Given the description of an element on the screen output the (x, y) to click on. 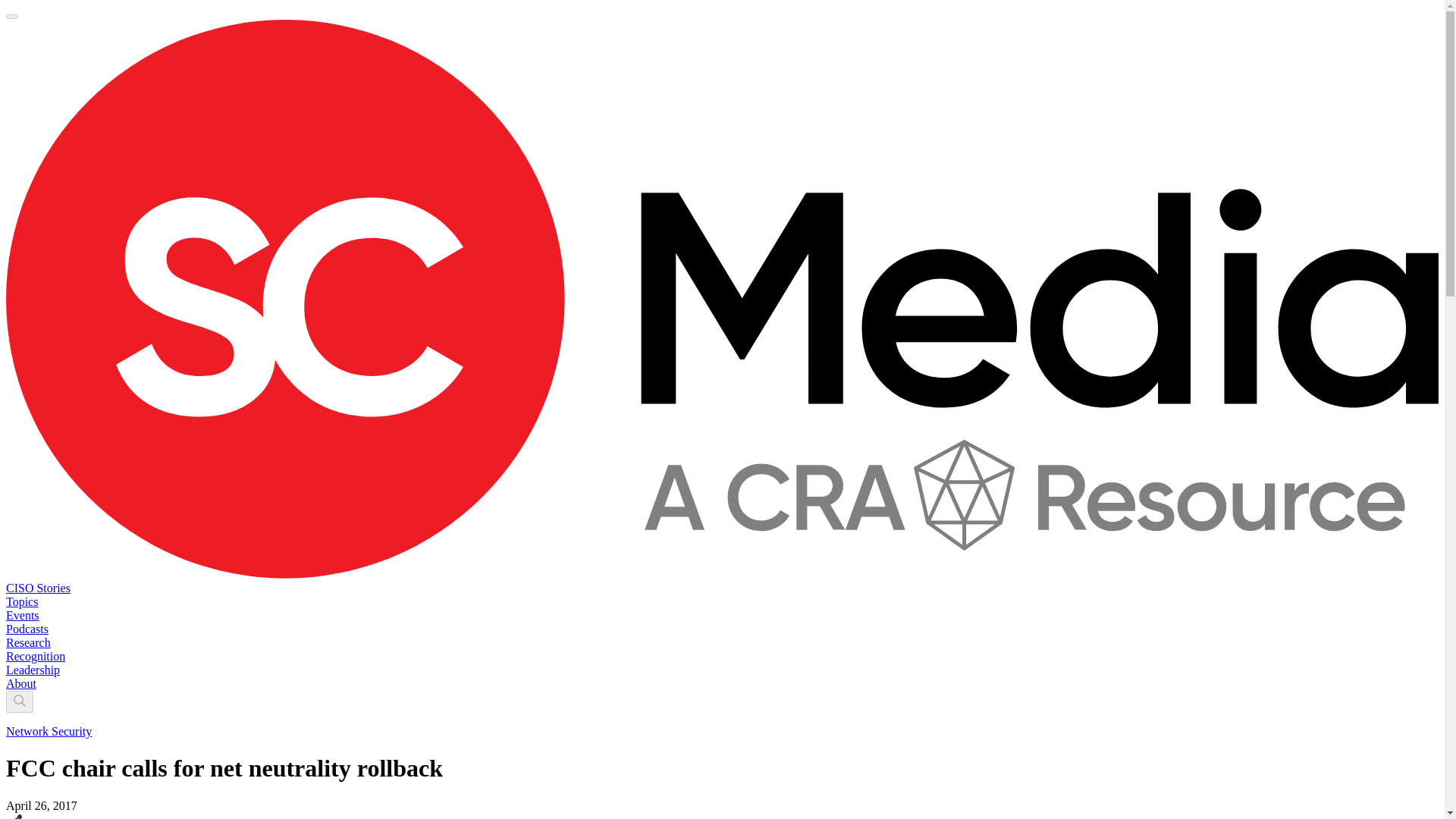
Leadership (32, 669)
Podcasts (26, 628)
About (20, 683)
CISO Stories (37, 587)
Events (22, 615)
Recognition (35, 656)
Research (27, 642)
Network Security (48, 730)
Topics (21, 601)
